Given the description of an element on the screen output the (x, y) to click on. 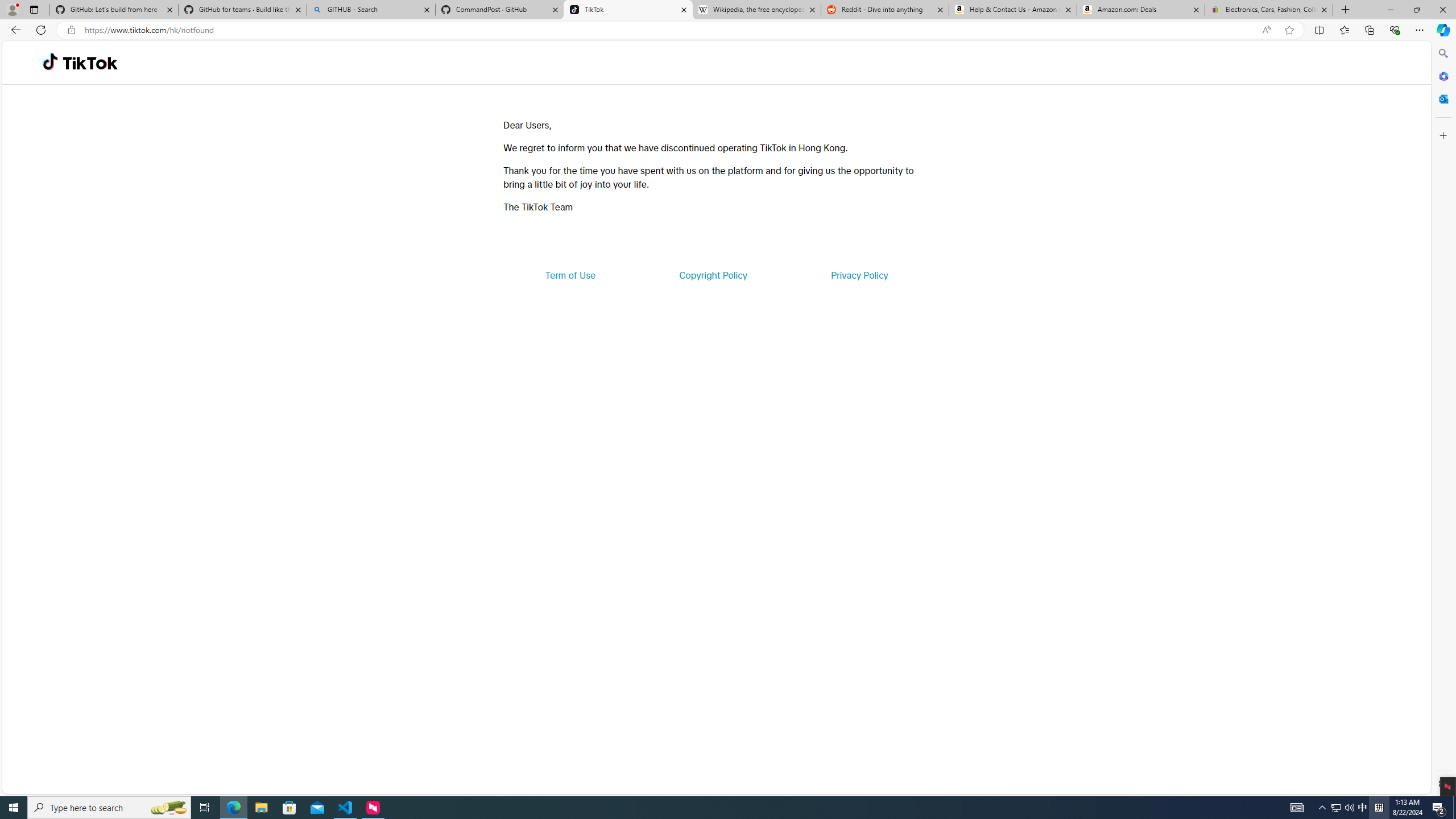
Amazon.com: Deals (1140, 9)
Copyright Policy (712, 274)
